Given the description of an element on the screen output the (x, y) to click on. 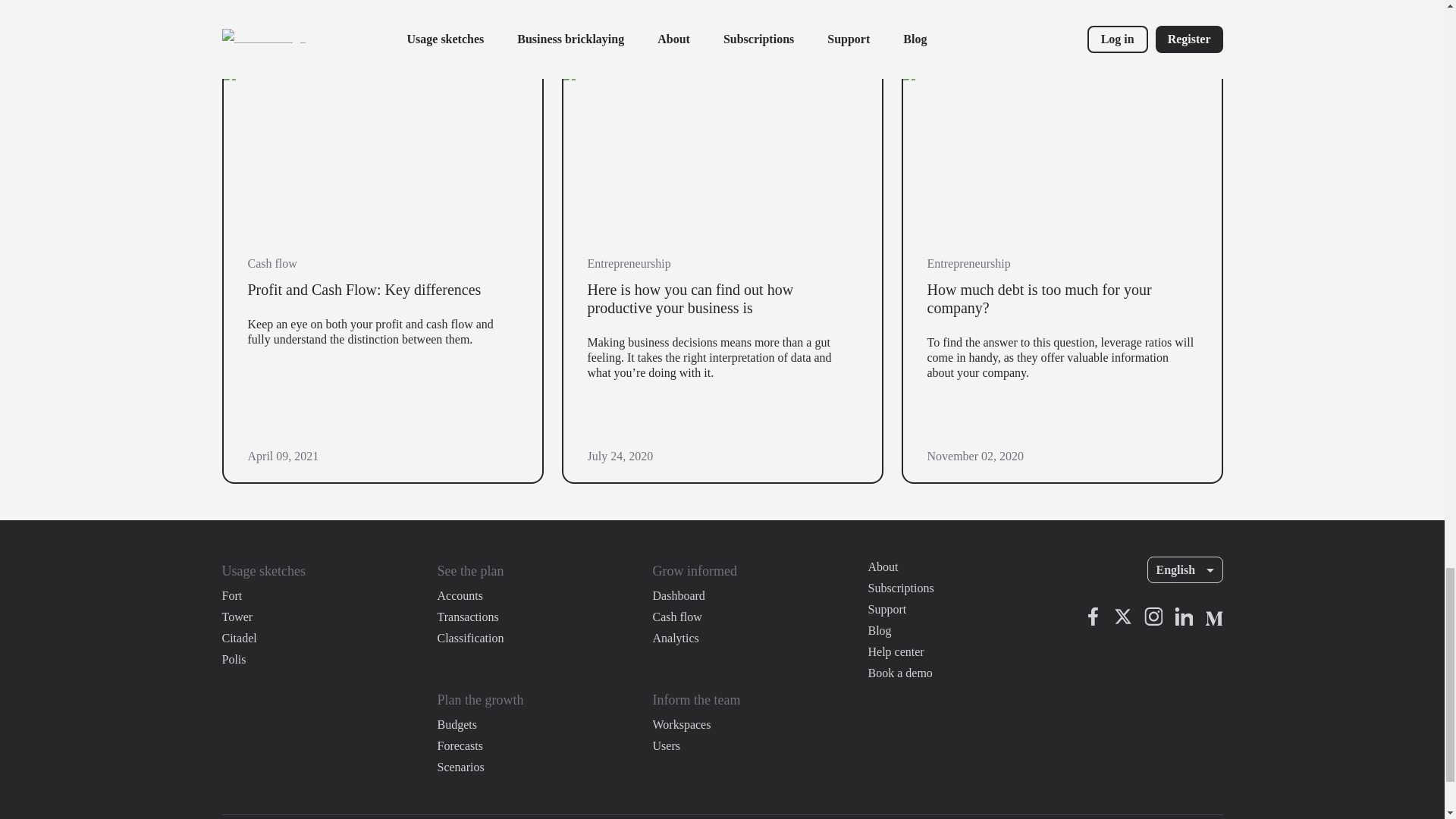
Cash flow (676, 617)
Classification (469, 638)
Polis (233, 659)
About (882, 567)
Tower (236, 617)
Accounts (458, 595)
Subscriptions (900, 588)
Citadel (238, 638)
Users (665, 745)
Blog (879, 630)
Workspaces (681, 724)
Transactions (466, 617)
Analytics (675, 638)
Budgets (456, 724)
